Given the description of an element on the screen output the (x, y) to click on. 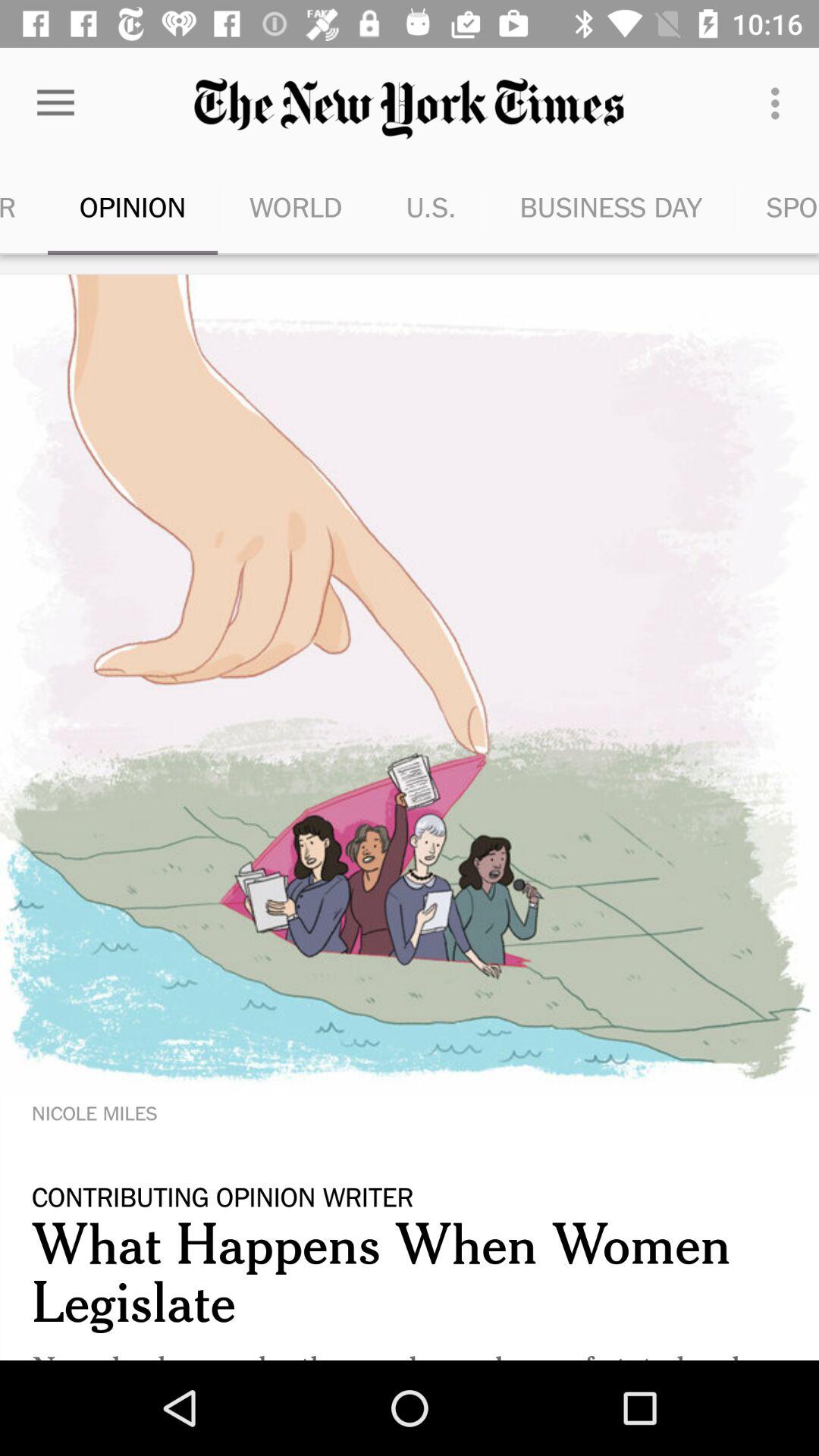
open icon above most popular icon (55, 103)
